Given the description of an element on the screen output the (x, y) to click on. 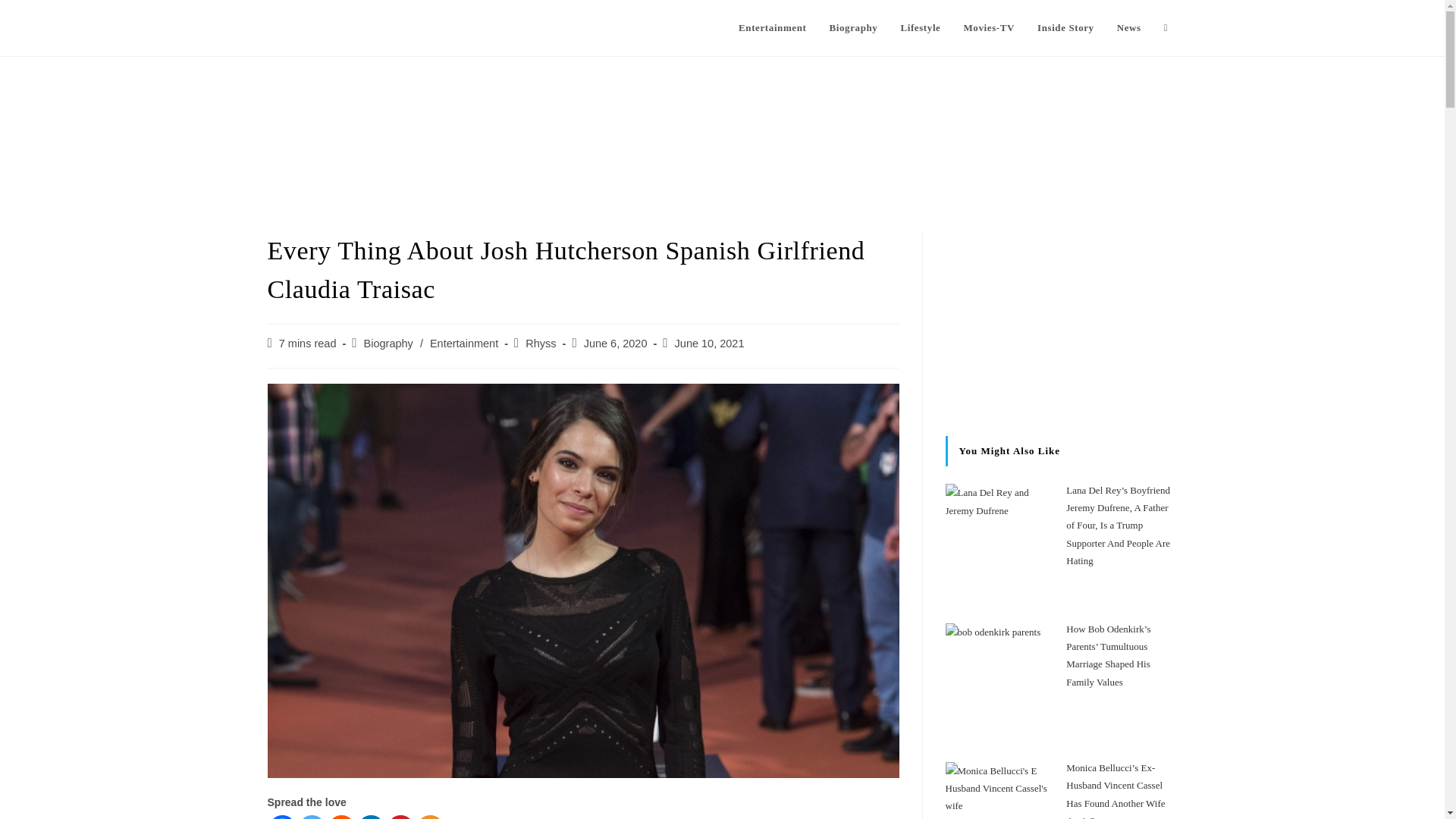
CelebSuburb (317, 26)
Movies-TV (989, 28)
Linkedin (371, 816)
Twitter (311, 816)
Lifestyle (920, 28)
Inside Story (1065, 28)
Biography (852, 28)
More (430, 816)
Entertainment (771, 28)
Rhyss (540, 343)
